Given the description of an element on the screen output the (x, y) to click on. 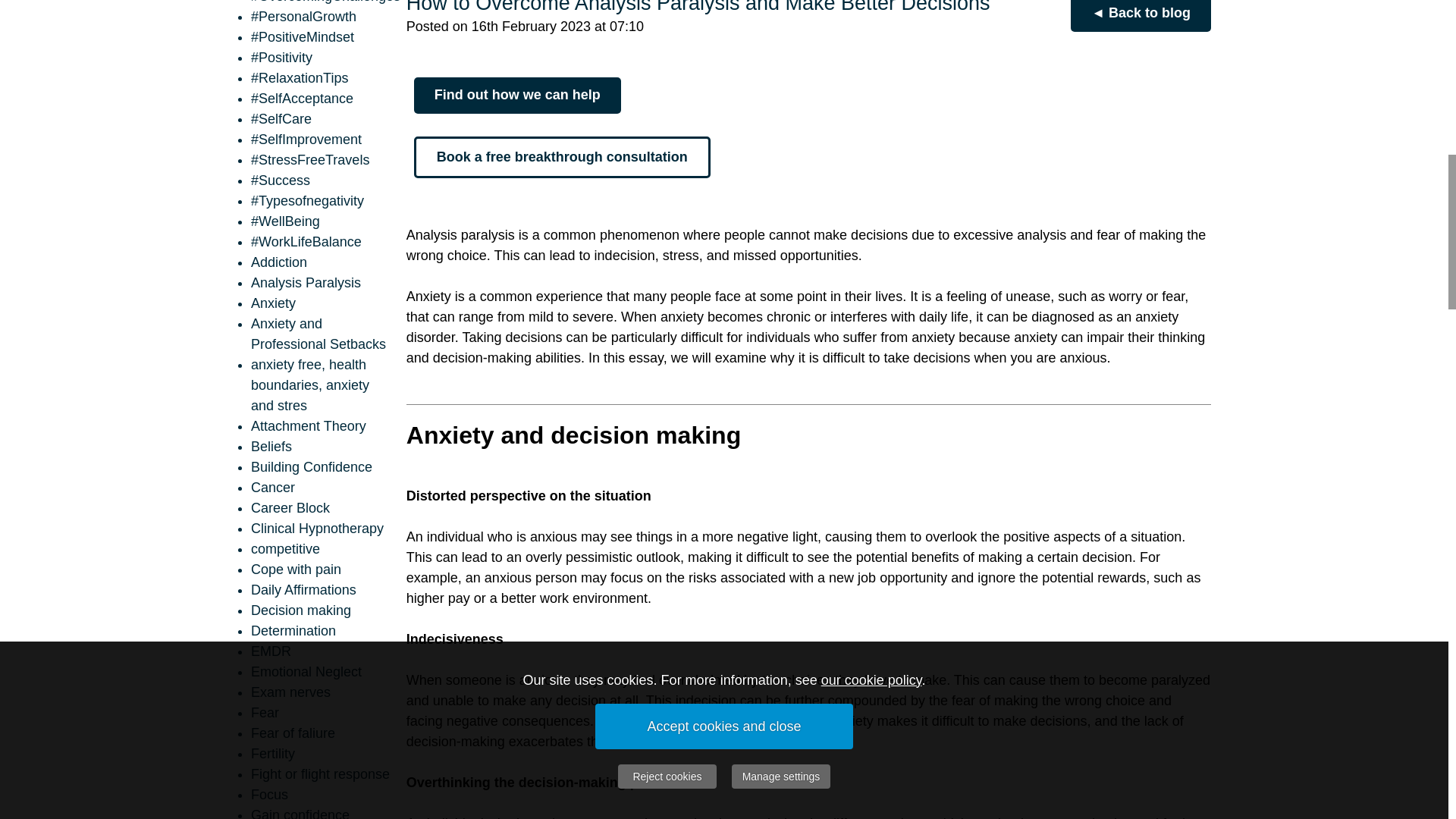
Find out how we can help (517, 95)
Back to blog (1140, 15)
Book a free breakthrough consultation (561, 157)
